Given the description of an element on the screen output the (x, y) to click on. 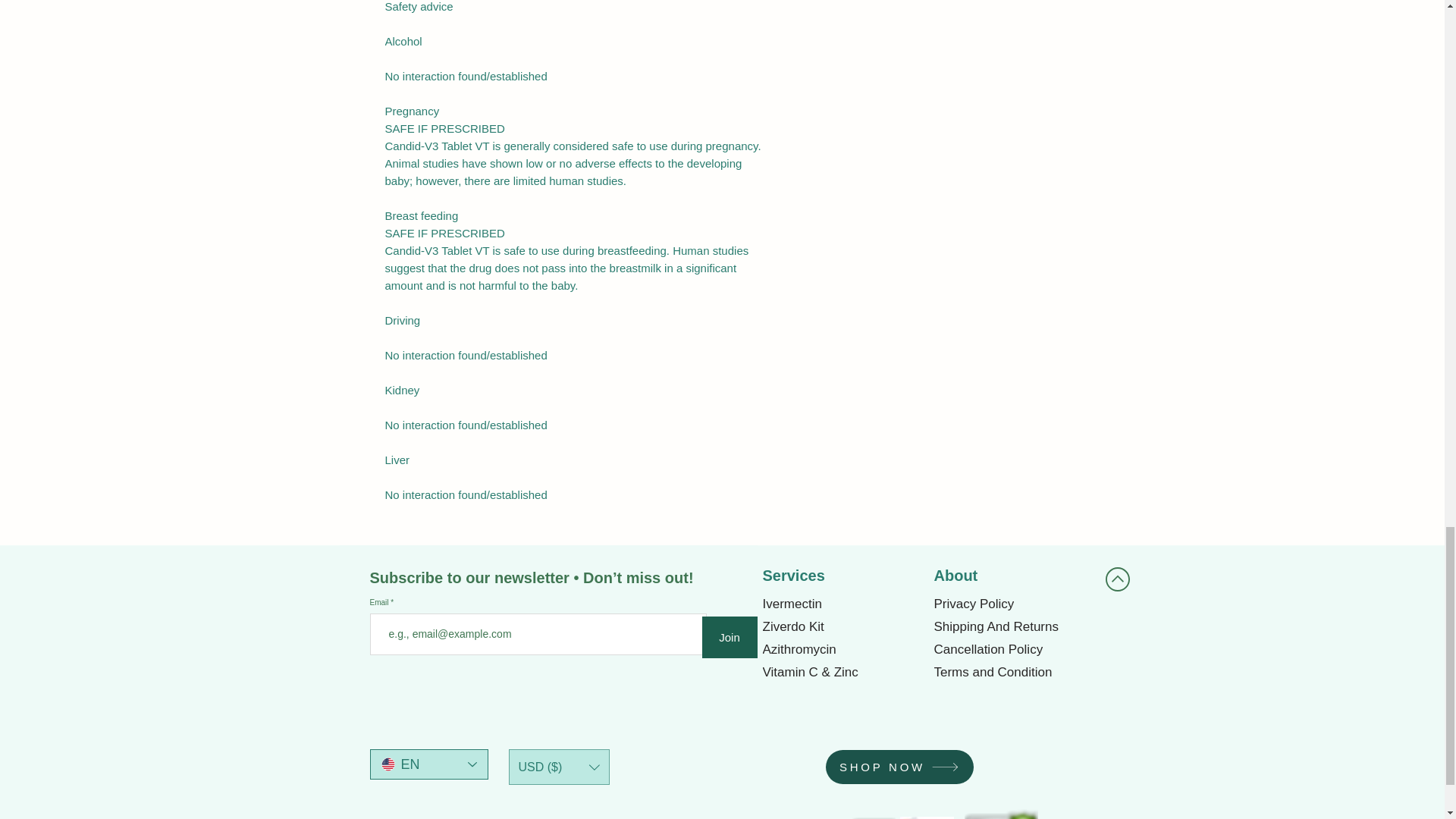
Azithromycin (841, 649)
Ziverdo Kit (841, 626)
Privacy Policy (1012, 603)
Join (729, 637)
Ivermectin (841, 603)
Shipping And Returns (1012, 626)
Cancellation Policy (1012, 649)
Terms and Condition (1012, 671)
SHOP NOW (898, 766)
